Given the description of an element on the screen output the (x, y) to click on. 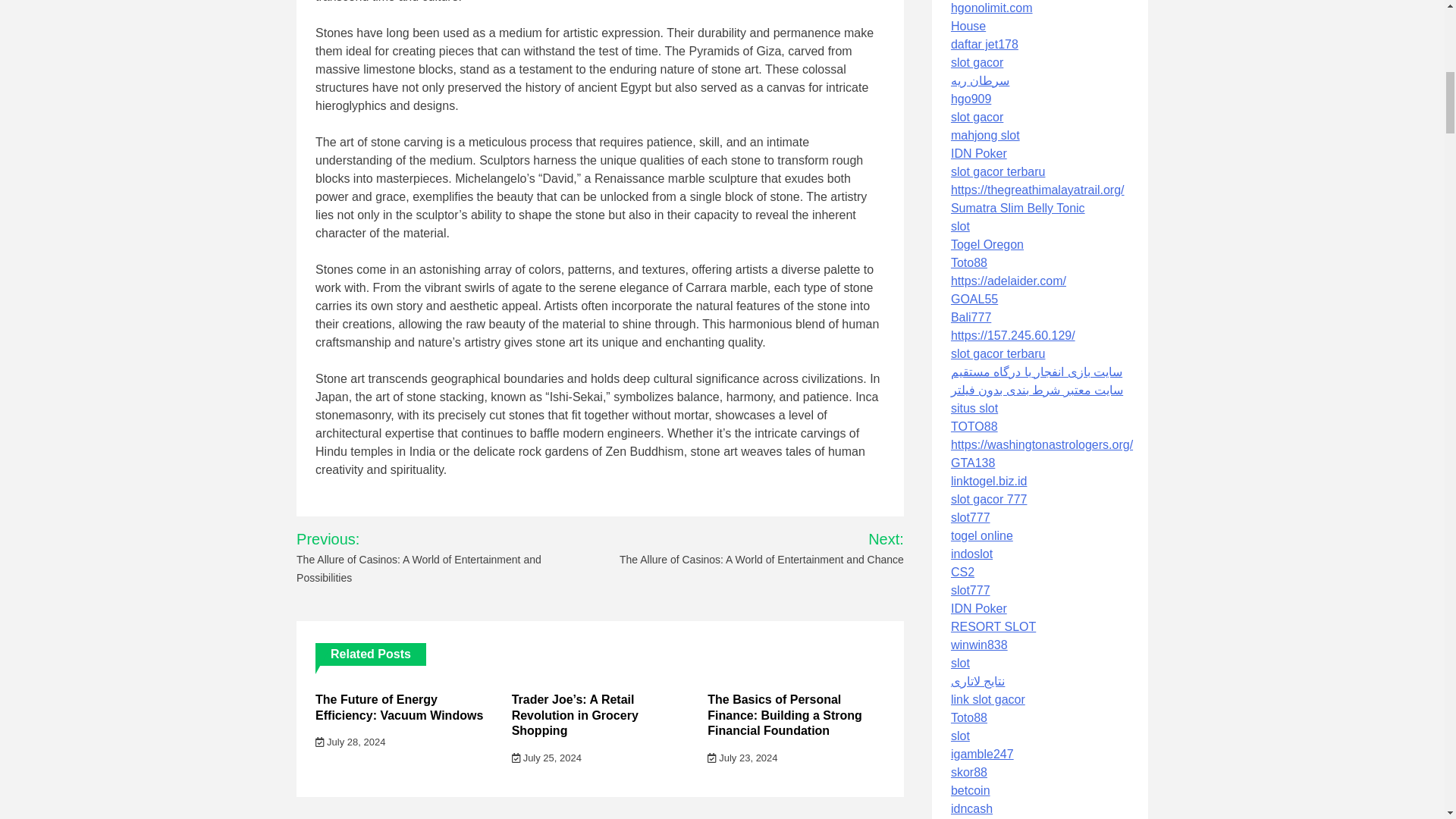
The Future of Energy Efficiency: Vacuum Windows (399, 706)
July 25, 2024 (546, 757)
July 28, 2024 (350, 741)
July 23, 2024 (742, 757)
